Given the description of an element on the screen output the (x, y) to click on. 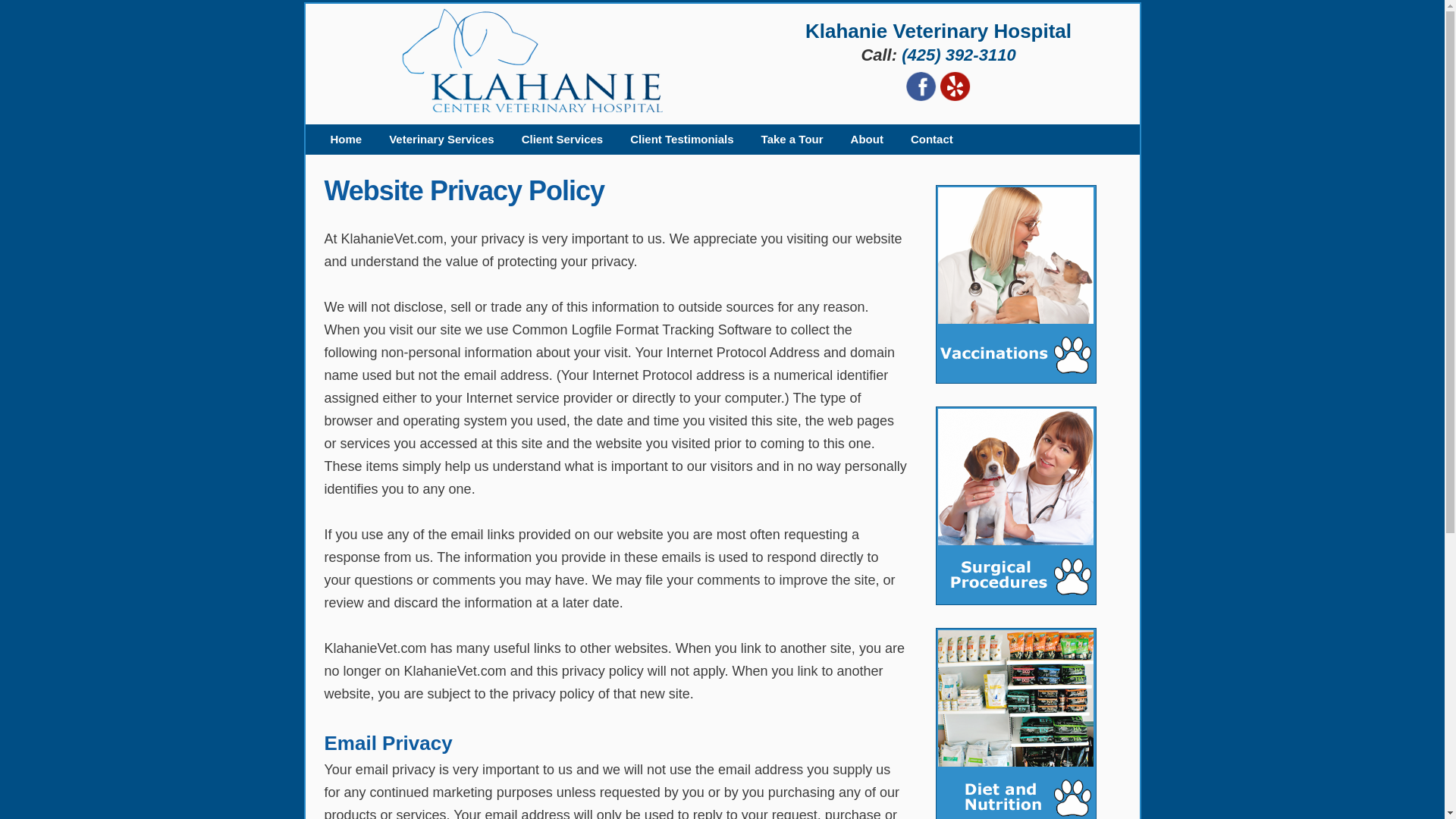
Pet Diet and Nutrition (1016, 723)
Client Testimonials (680, 139)
Client Services (562, 139)
Contact (931, 139)
Pet Vaccinations (1016, 284)
Home (346, 139)
About (866, 139)
Take a Tour (792, 139)
Pet Surgical Procedures (1016, 505)
Veterinary Services (440, 139)
